Given the description of an element on the screen output the (x, y) to click on. 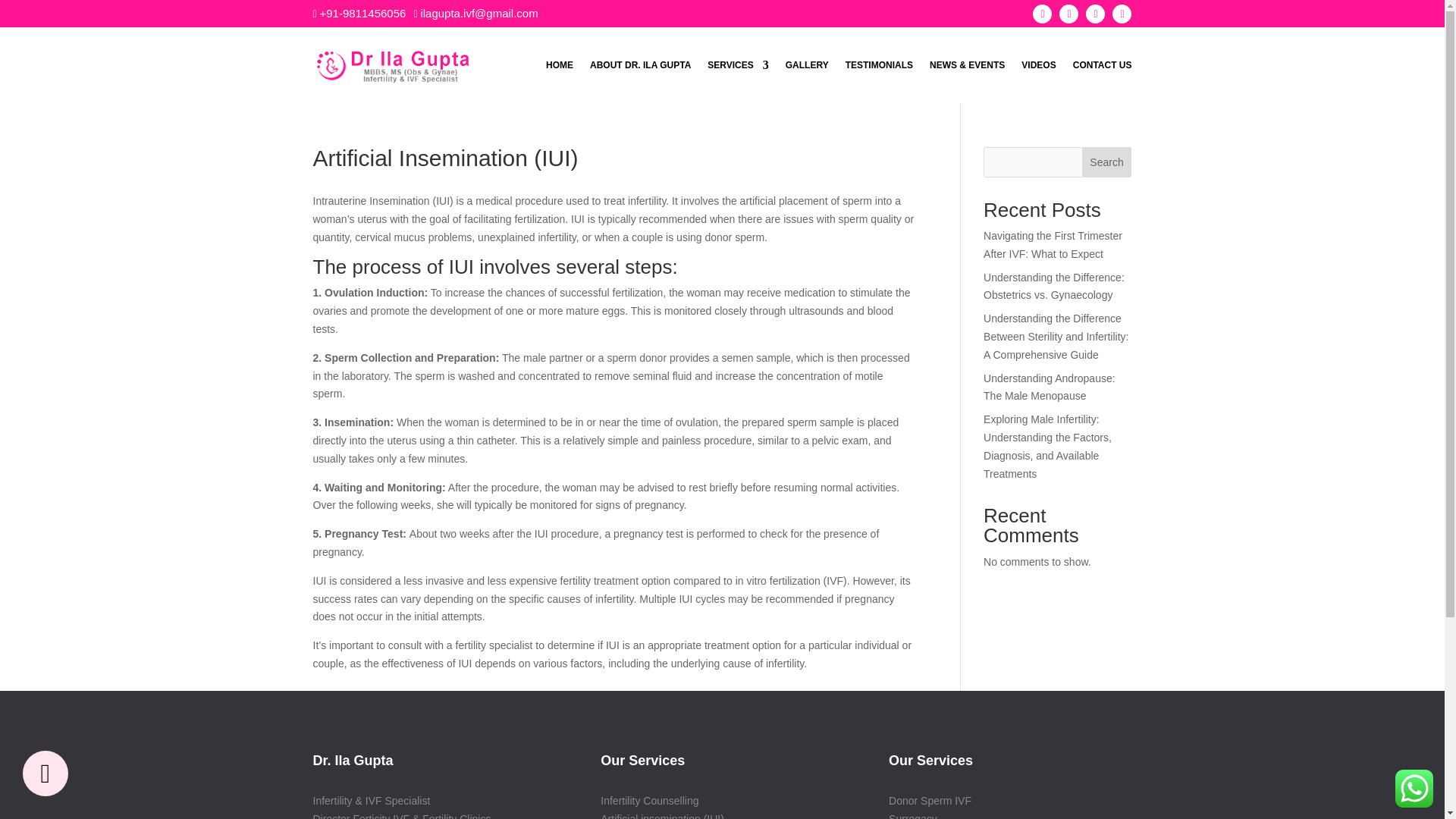
SERVICES (737, 65)
ABOUT DR. ILA GUPTA (639, 65)
CONTACT US (1102, 65)
TESTIMONIALS (878, 65)
